Given the description of an element on the screen output the (x, y) to click on. 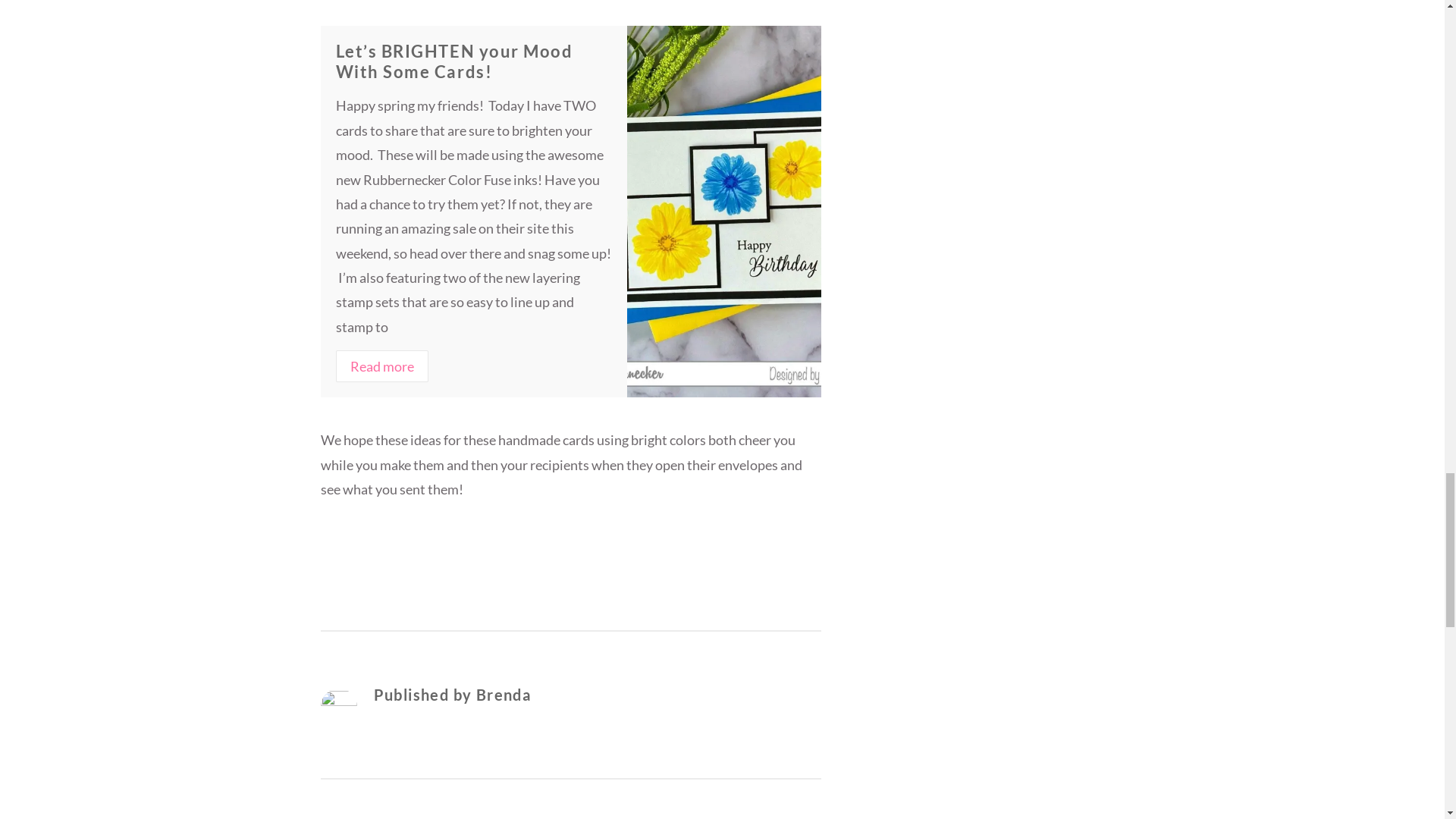
Read more (381, 366)
